Given the description of an element on the screen output the (x, y) to click on. 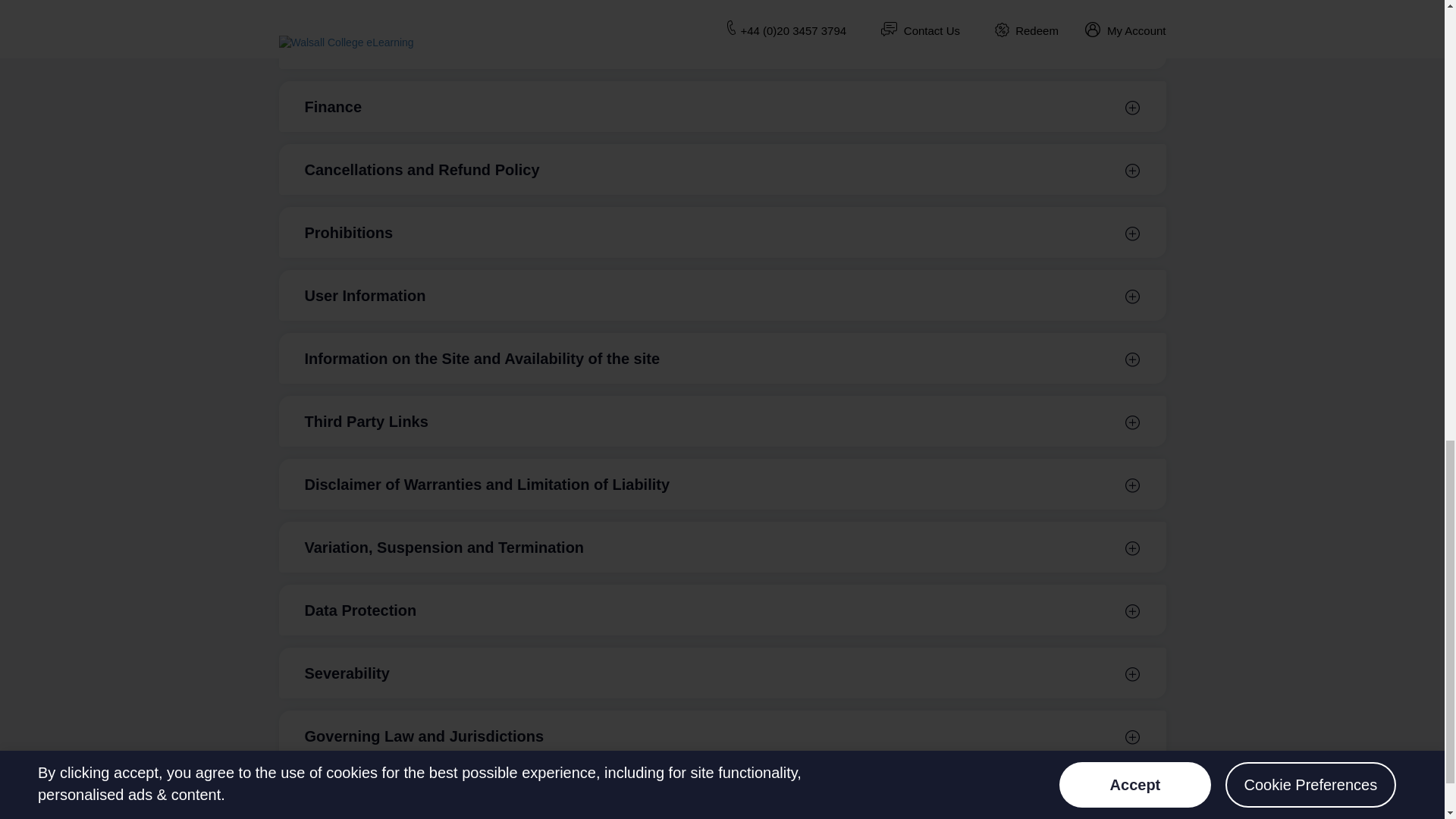
Offers and Promotions (721, 42)
Prohibitions (721, 232)
Finance (721, 106)
User Information (721, 295)
Cancellations and Refund Policy (721, 169)
